Given the description of an element on the screen output the (x, y) to click on. 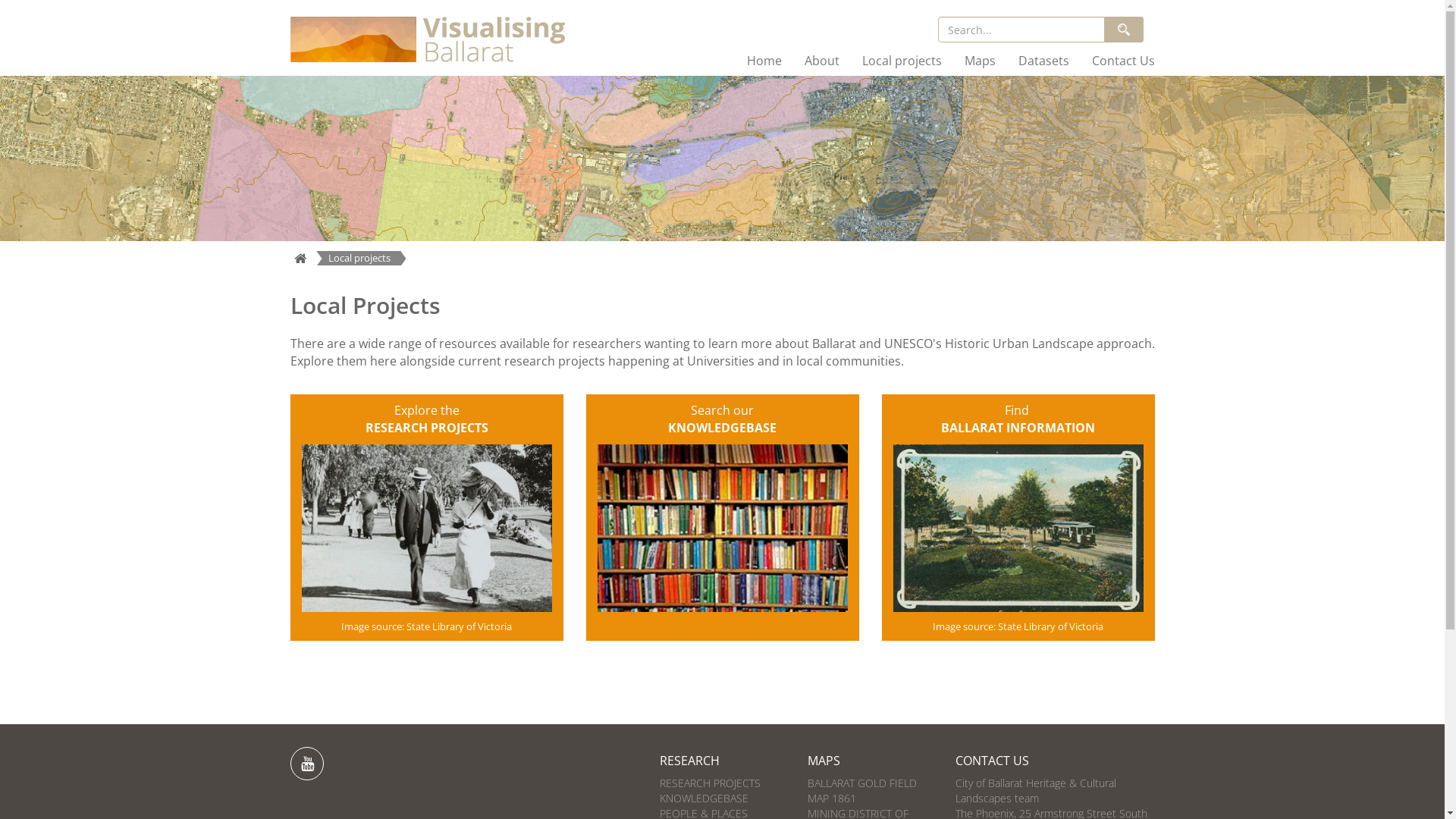
  Element type: text (306, 763)
Explore the
RESEARCH PROJECTS Element type: text (426, 418)
Datasets Element type: text (1043, 60)
RESEARCH Element type: text (689, 760)
BALLARAT GOLD FIELD MAP 1861 Element type: text (861, 790)
CONTACT US Element type: text (992, 760)
Contact Us Element type: text (1122, 60)
Home Element type: text (764, 60)
KNOWLEDGEBASE Element type: text (703, 797)
Search our
KNOWLEDGEBASE Element type: text (722, 418)
Maps Element type: text (979, 60)
Local projects Element type: text (901, 60)
About Element type: text (821, 60)
Find 
BALLARAT INFORMATION Element type: text (1018, 418)
  Element type: text (1122, 29)
RESEARCH PROJECTS Element type: text (709, 782)
MAPS Element type: text (823, 760)
